Given the description of an element on the screen output the (x, y) to click on. 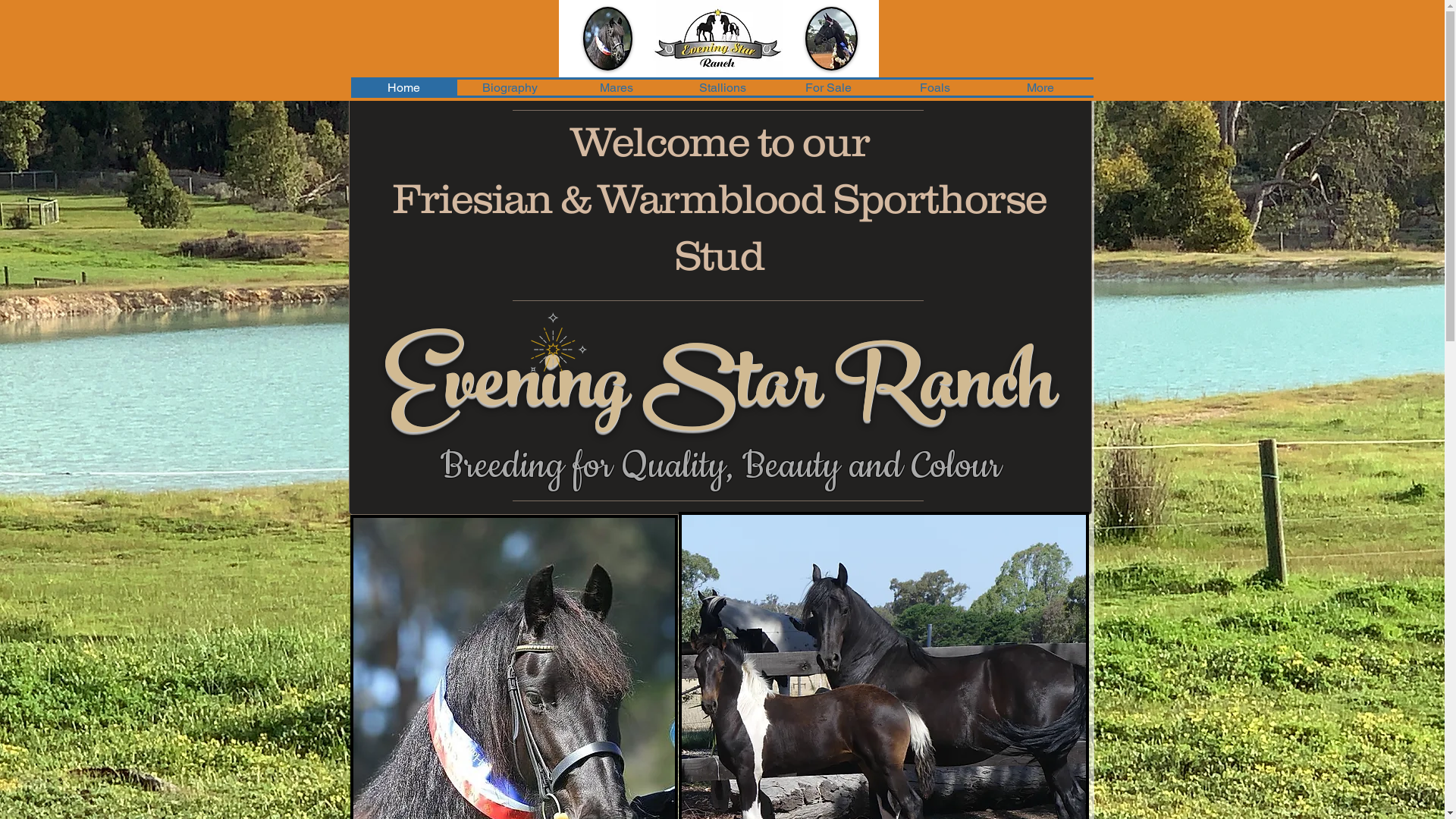
Evening Star Ranch Element type: text (719, 391)
Home Element type: text (403, 87)
Stallions Element type: text (721, 87)
Foals Element type: text (934, 87)
Biography Element type: text (509, 87)
Mares Element type: text (615, 87)
IMG_7009.jpg Element type: hover (718, 38)
For Sale Element type: text (828, 87)
